Given the description of an element on the screen output the (x, y) to click on. 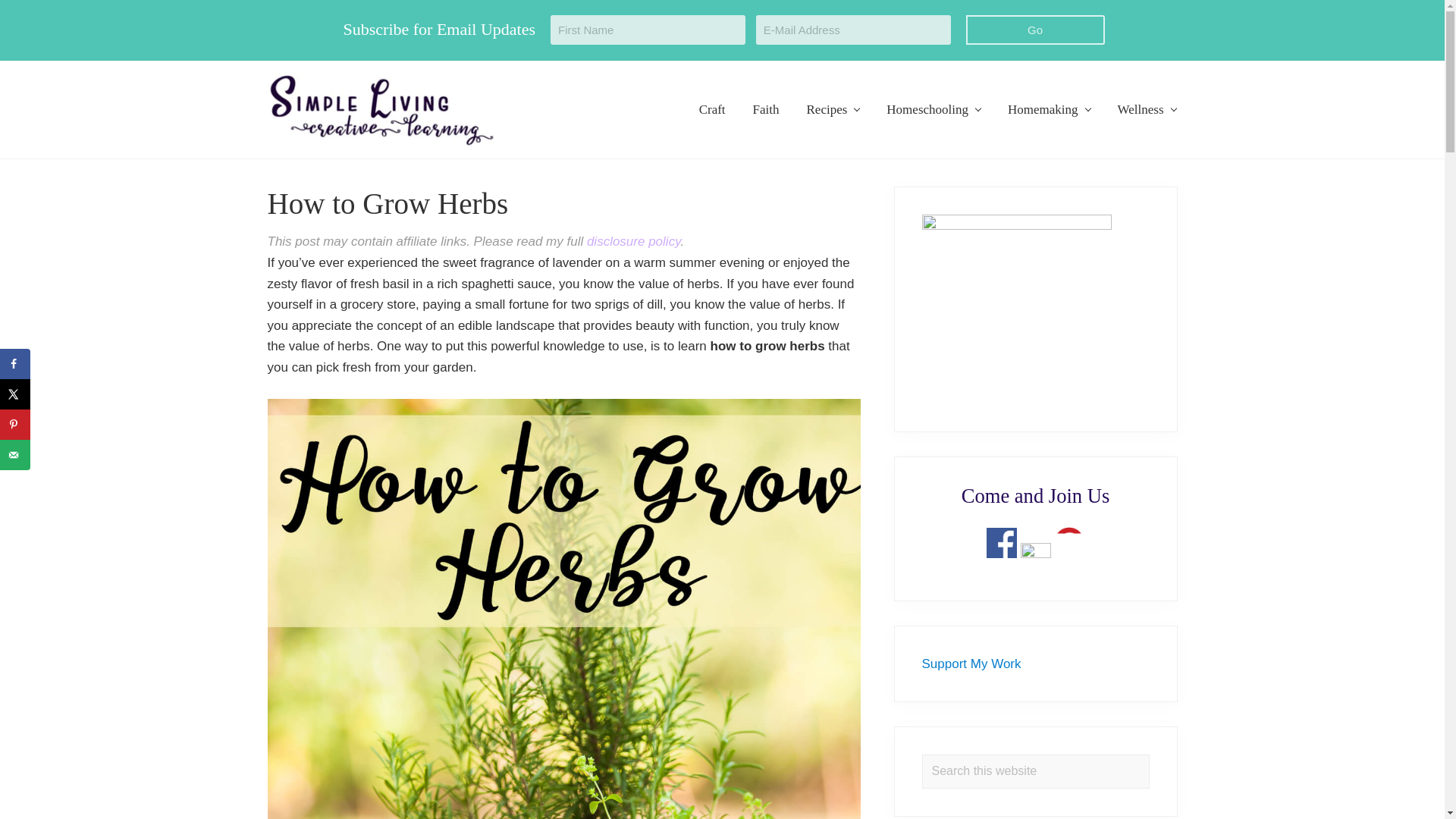
Homemaking (1048, 109)
Send over email (15, 454)
Homeschooling (933, 109)
Recipes (833, 109)
Craft (712, 109)
Share on Facebook (15, 363)
Go (1035, 30)
disclosure policy (632, 241)
Save to Pinterest (15, 424)
Go (1035, 30)
Wellness (1146, 109)
Faith (766, 109)
Share on X (15, 394)
